Given the description of an element on the screen output the (x, y) to click on. 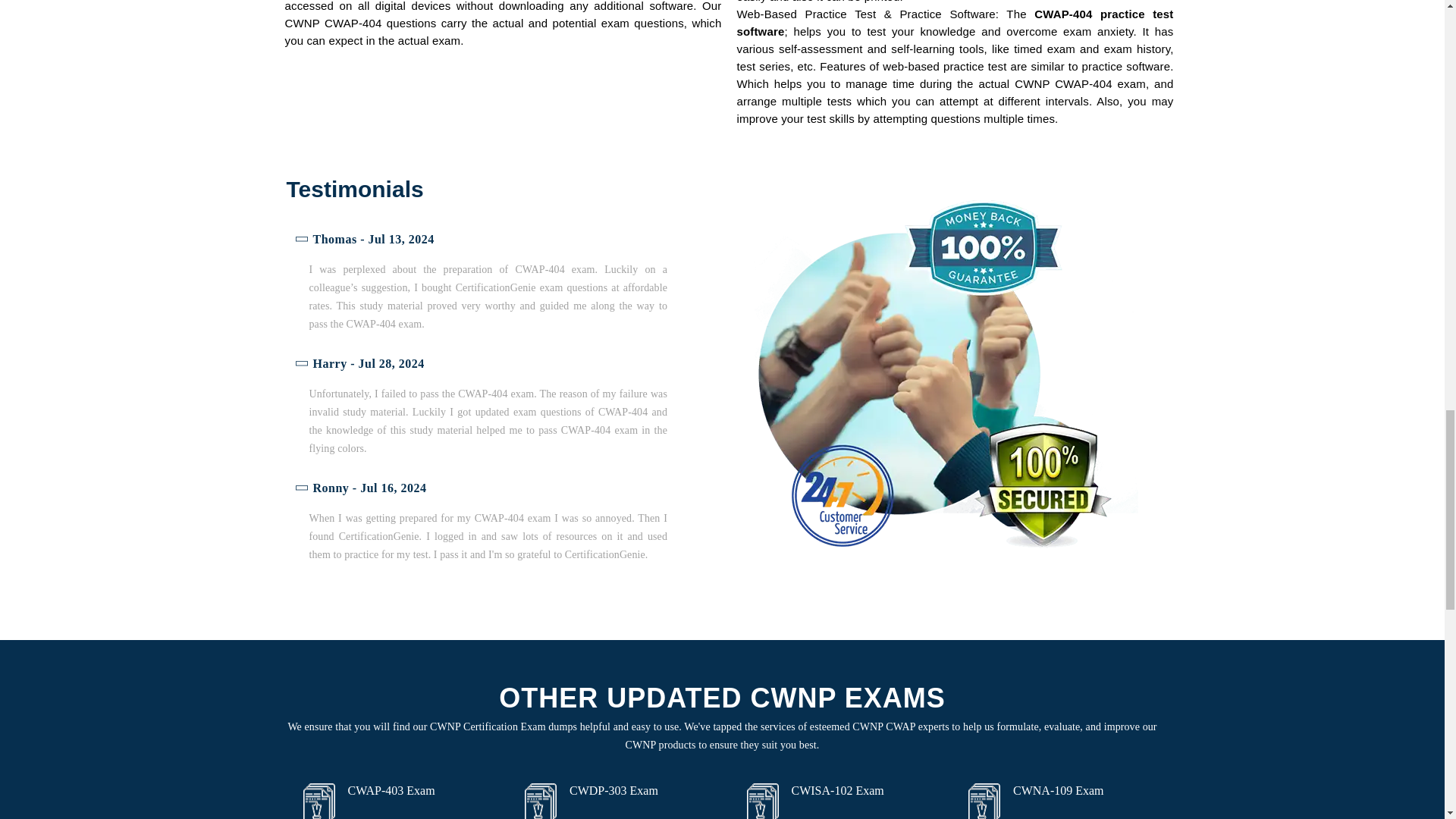
Harry - Jul 28, 2024 (482, 364)
Ronny - Jul 16, 2024 (482, 488)
Thomas - Jul 13, 2024 (482, 239)
